Given the description of an element on the screen output the (x, y) to click on. 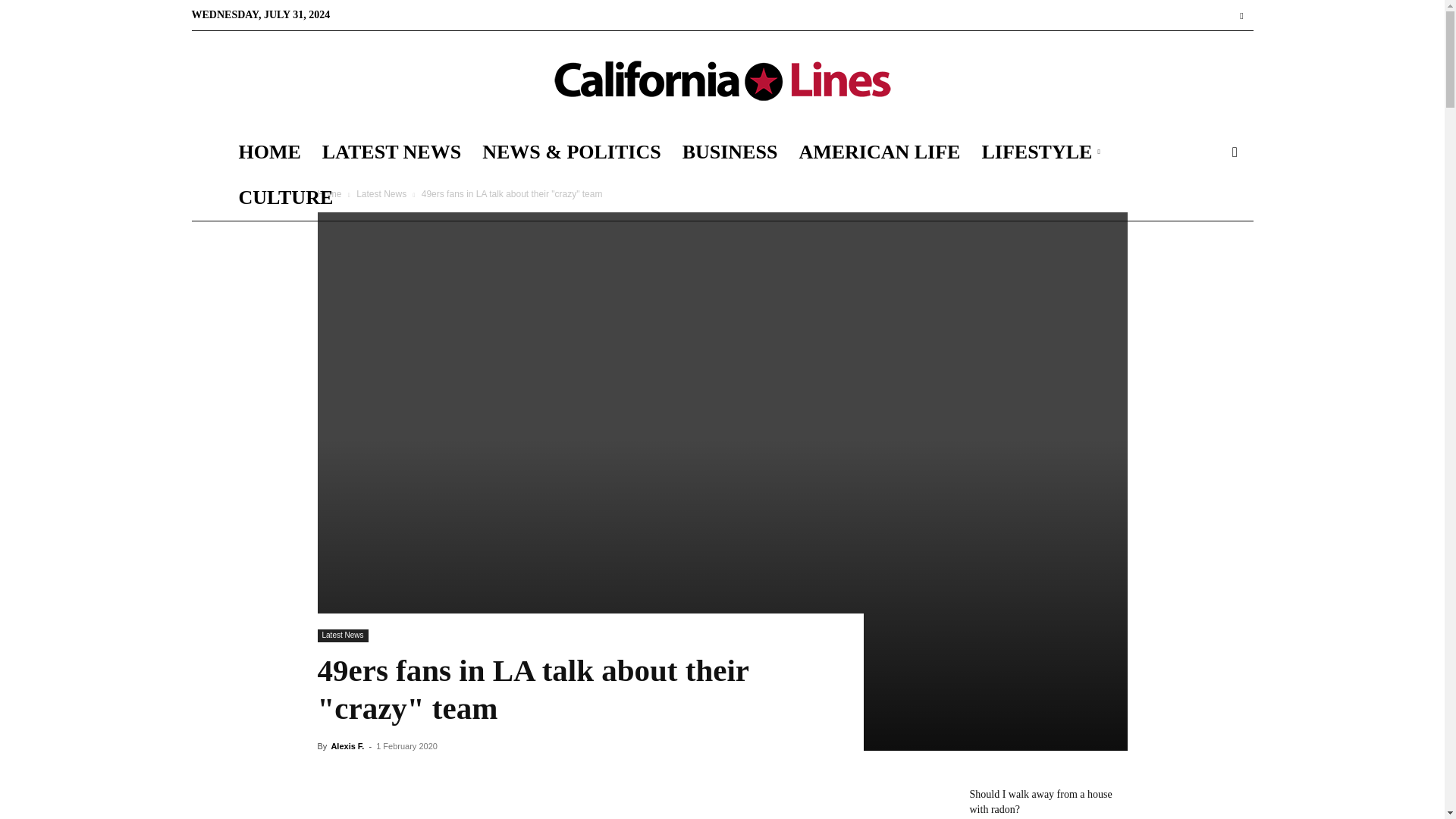
CULTURE (285, 197)
LIFESTYLE (1043, 152)
View all posts in Latest News (381, 194)
Latest News (342, 635)
Search (1210, 217)
HOME (269, 152)
Alexis F. (347, 746)
LATEST NEWS (391, 152)
Facebook (1241, 15)
Home (328, 194)
BUSINESS (730, 152)
Latest News (381, 194)
AMERICAN LIFE (879, 152)
